Given the description of an element on the screen output the (x, y) to click on. 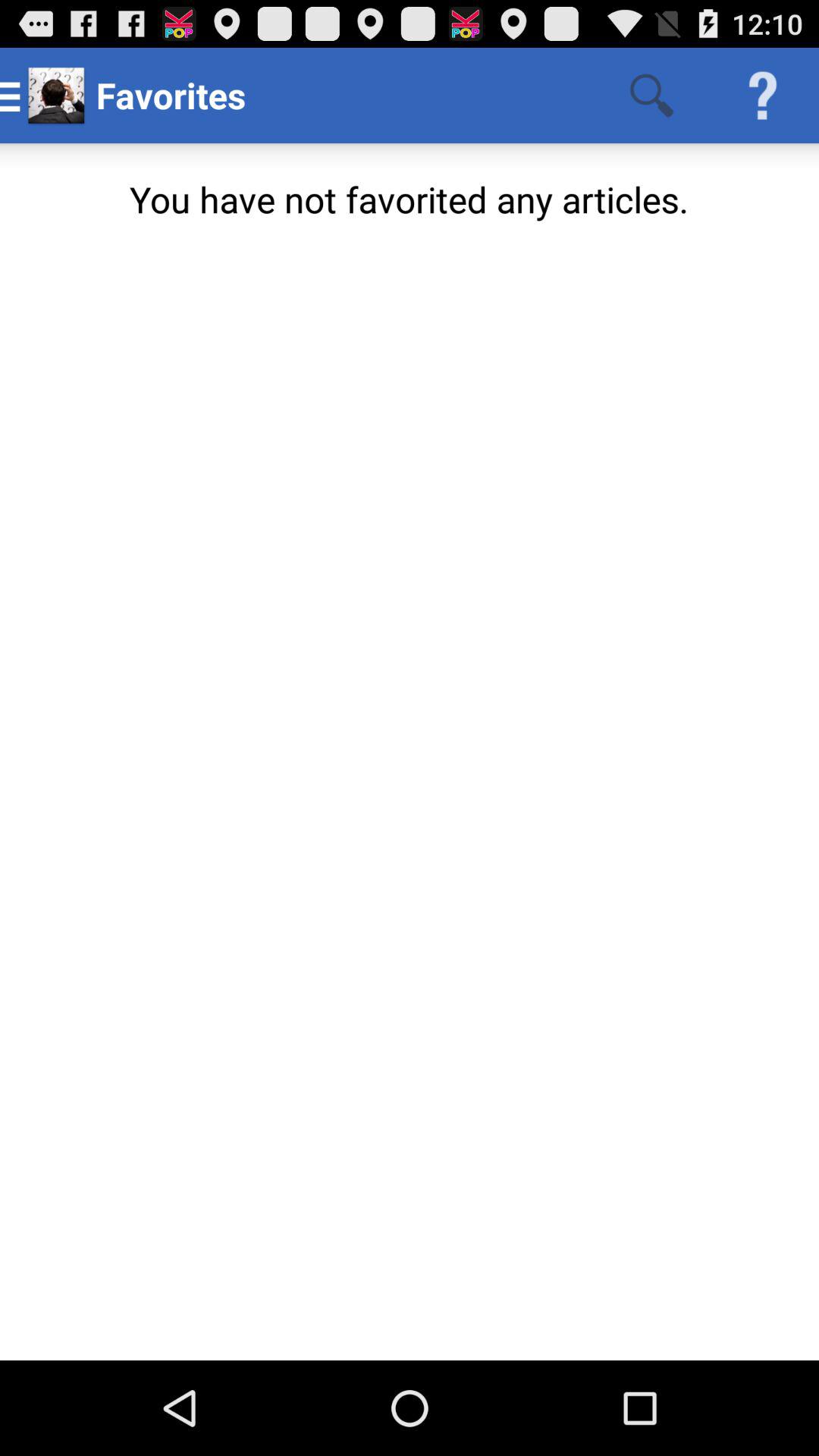
open app above the you have not item (651, 95)
